Given the description of an element on the screen output the (x, y) to click on. 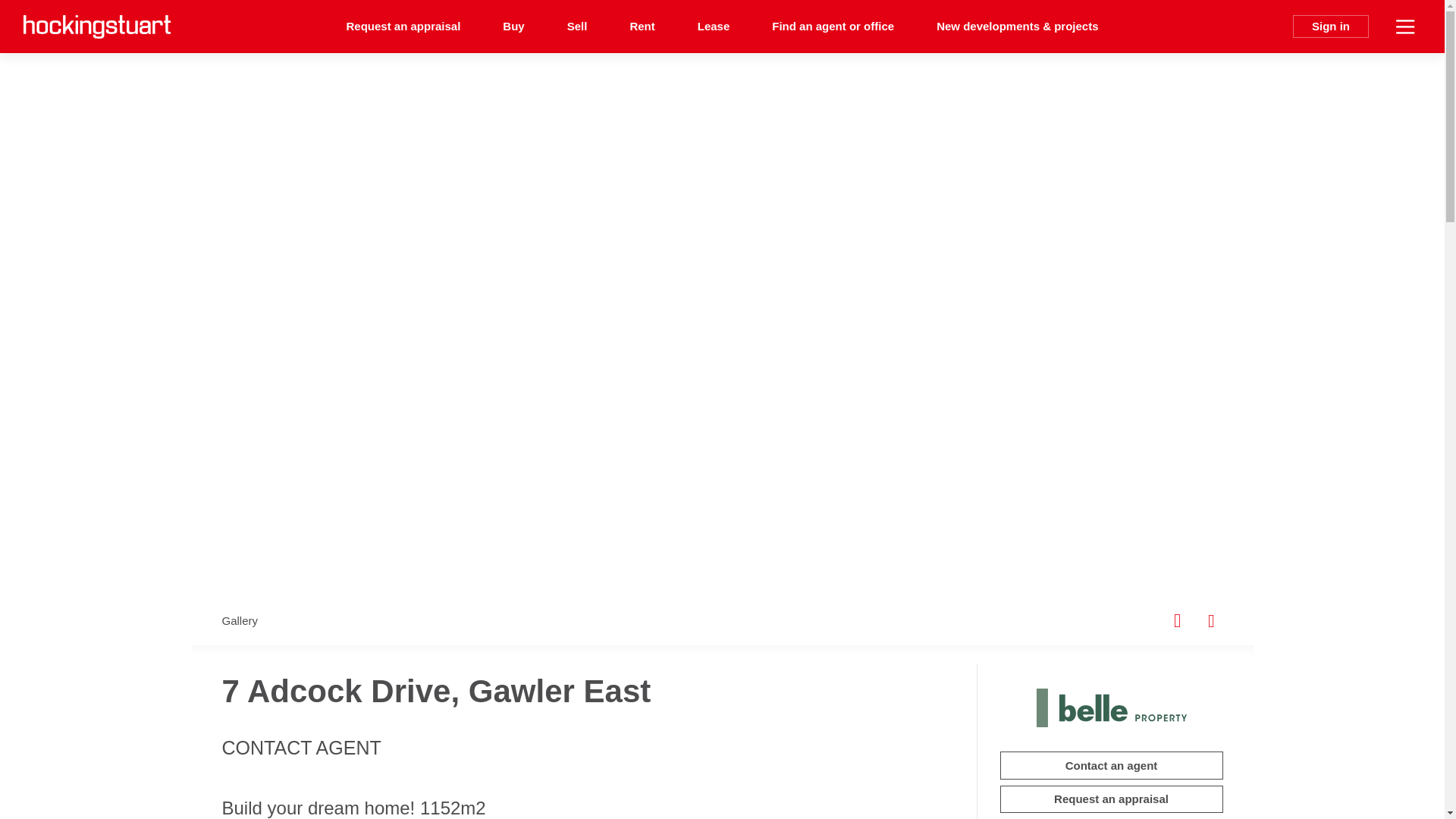
Rent (641, 26)
Lease (714, 26)
Request an appraisal (402, 26)
Buy (513, 26)
Sell (577, 26)
Find an agent or office (832, 26)
